Given the description of an element on the screen output the (x, y) to click on. 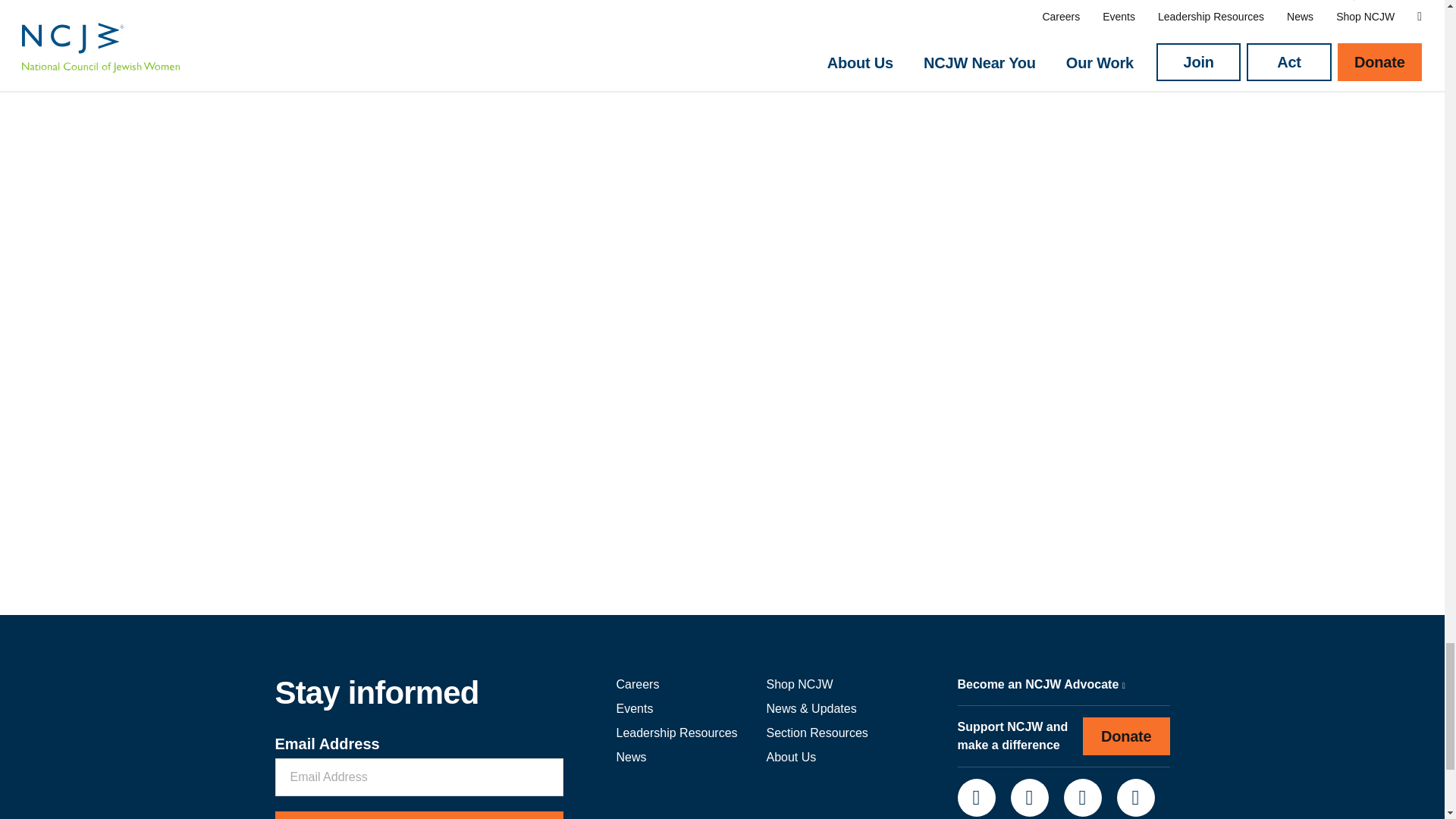
Events (633, 707)
About Us (790, 757)
Leadership Resources (675, 732)
Become an NCJW Advocate (1040, 684)
Get Updates (418, 815)
Careers (637, 684)
Shop NCJW (798, 684)
News (630, 757)
Section Resources (816, 732)
